Given the description of an element on the screen output the (x, y) to click on. 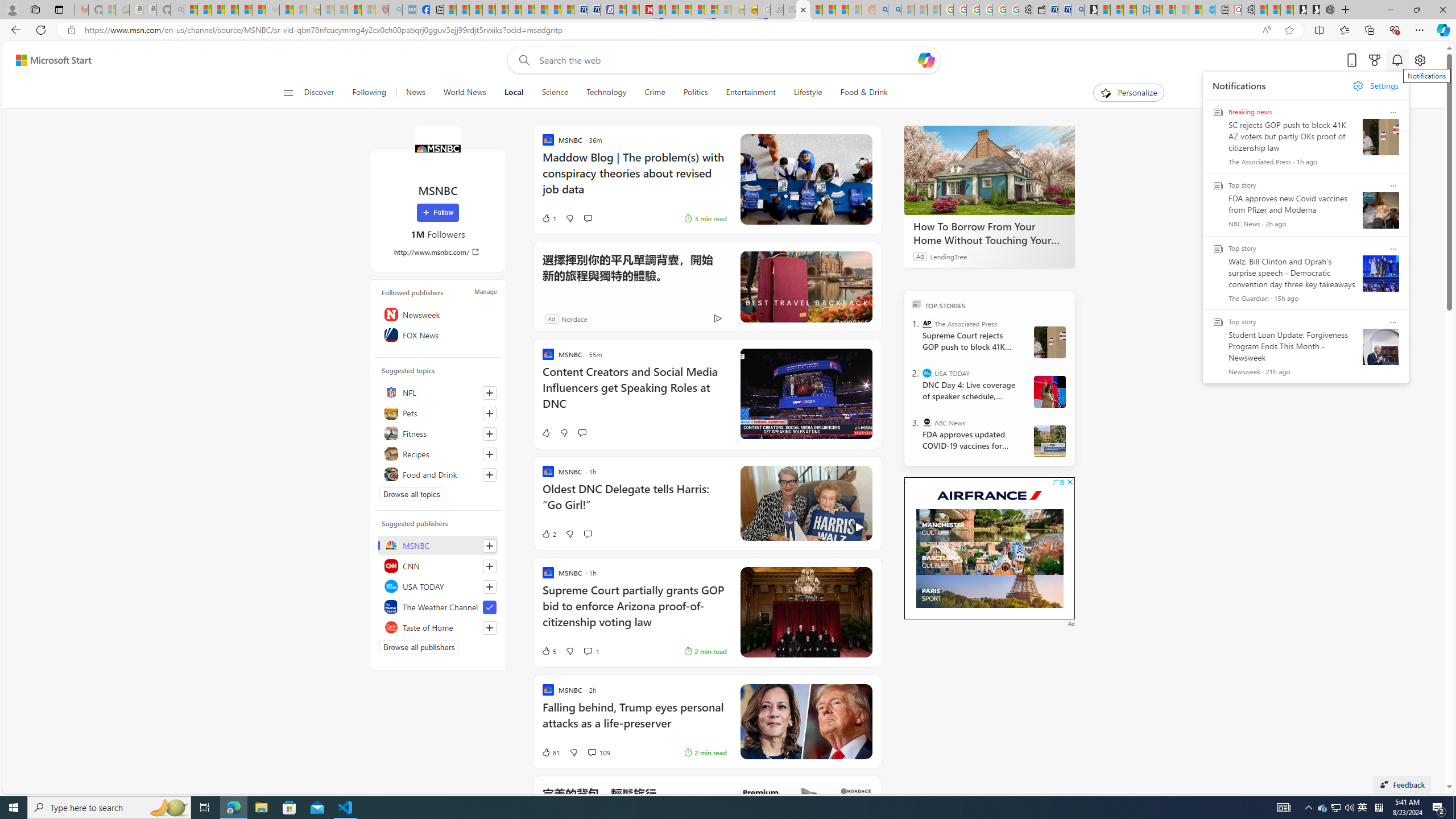
Nordace - Nordace Siena Is Not An Ordinary Backpack (1326, 9)
Start the conversation (587, 533)
